Given the description of an element on the screen output the (x, y) to click on. 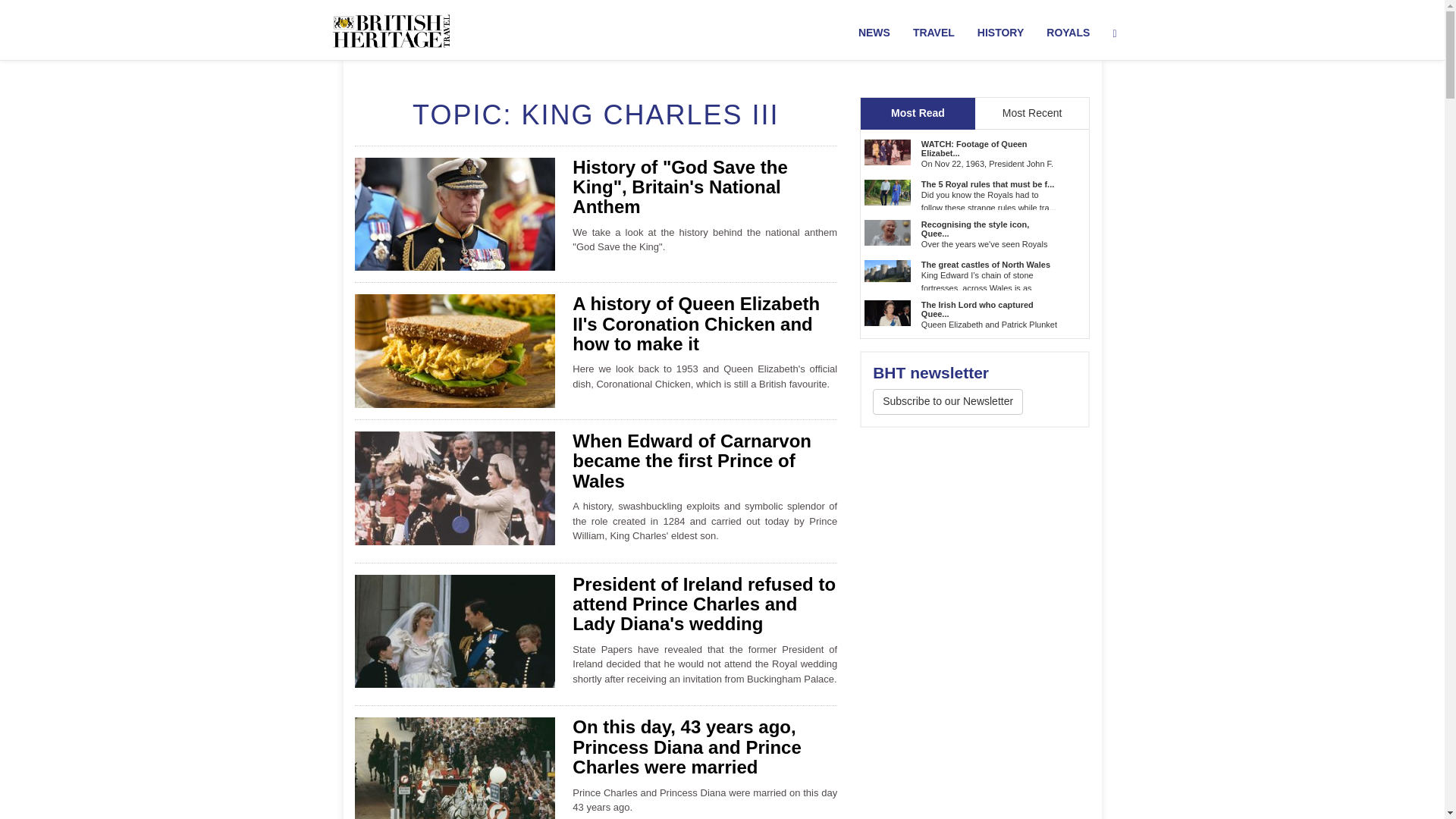
NEWS (874, 32)
HISTORY (1000, 32)
TRAVEL (933, 32)
ROYALS (1067, 32)
